Given the description of an element on the screen output the (x, y) to click on. 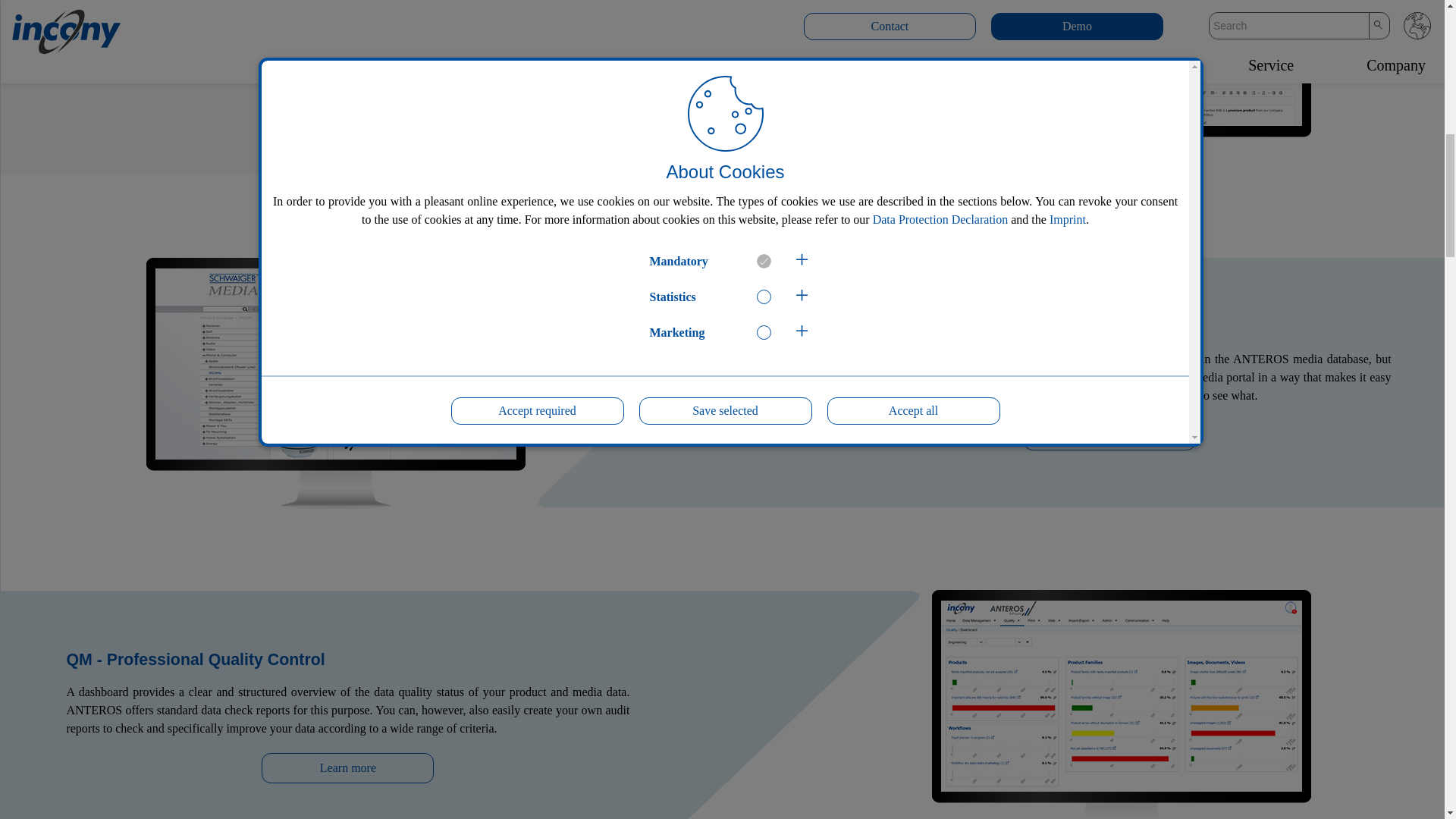
Learn more (347, 767)
Learn more (347, 101)
Learn more (1109, 435)
